Given the description of an element on the screen output the (x, y) to click on. 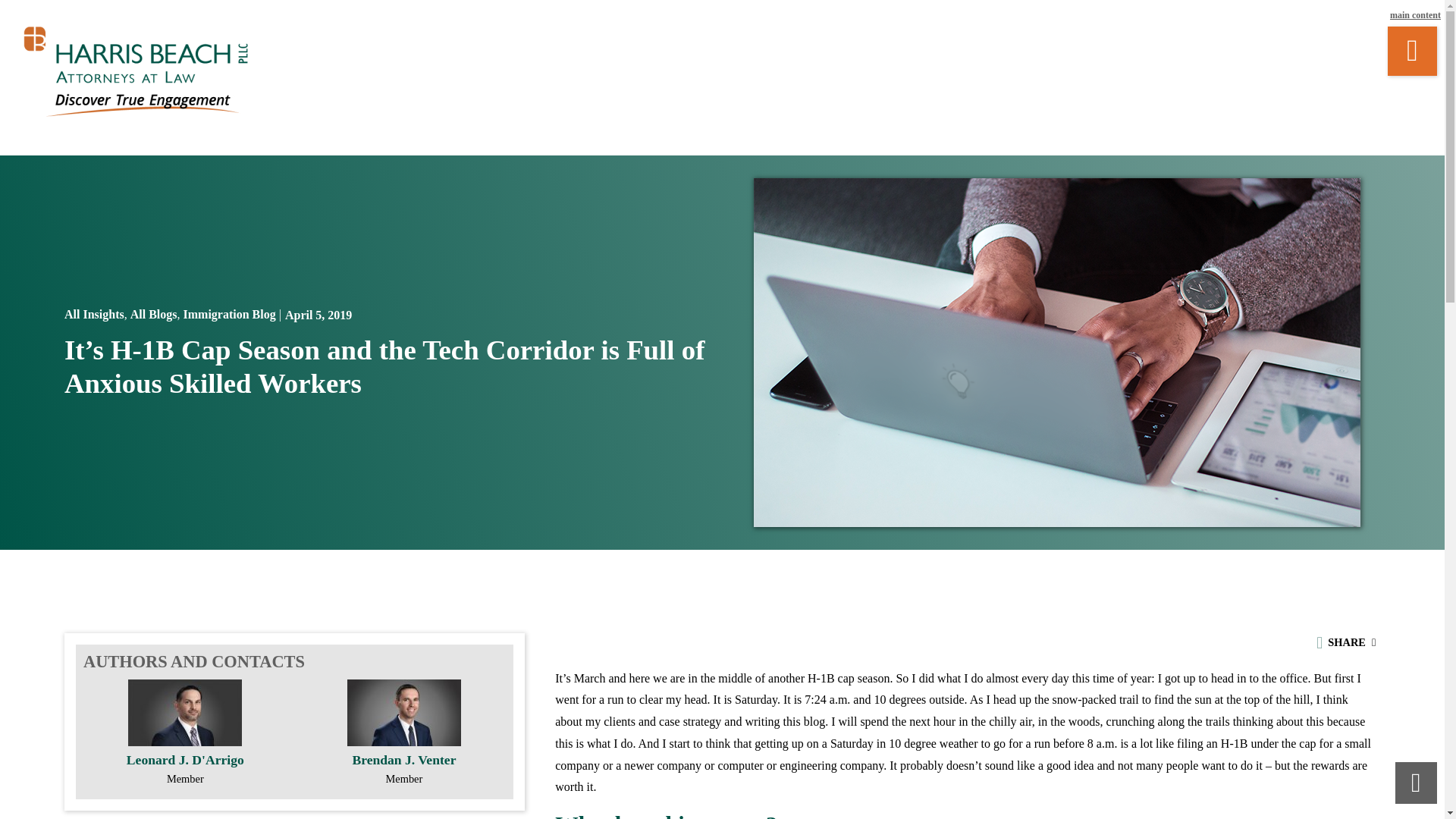
main content (1415, 14)
